Given the description of an element on the screen output the (x, y) to click on. 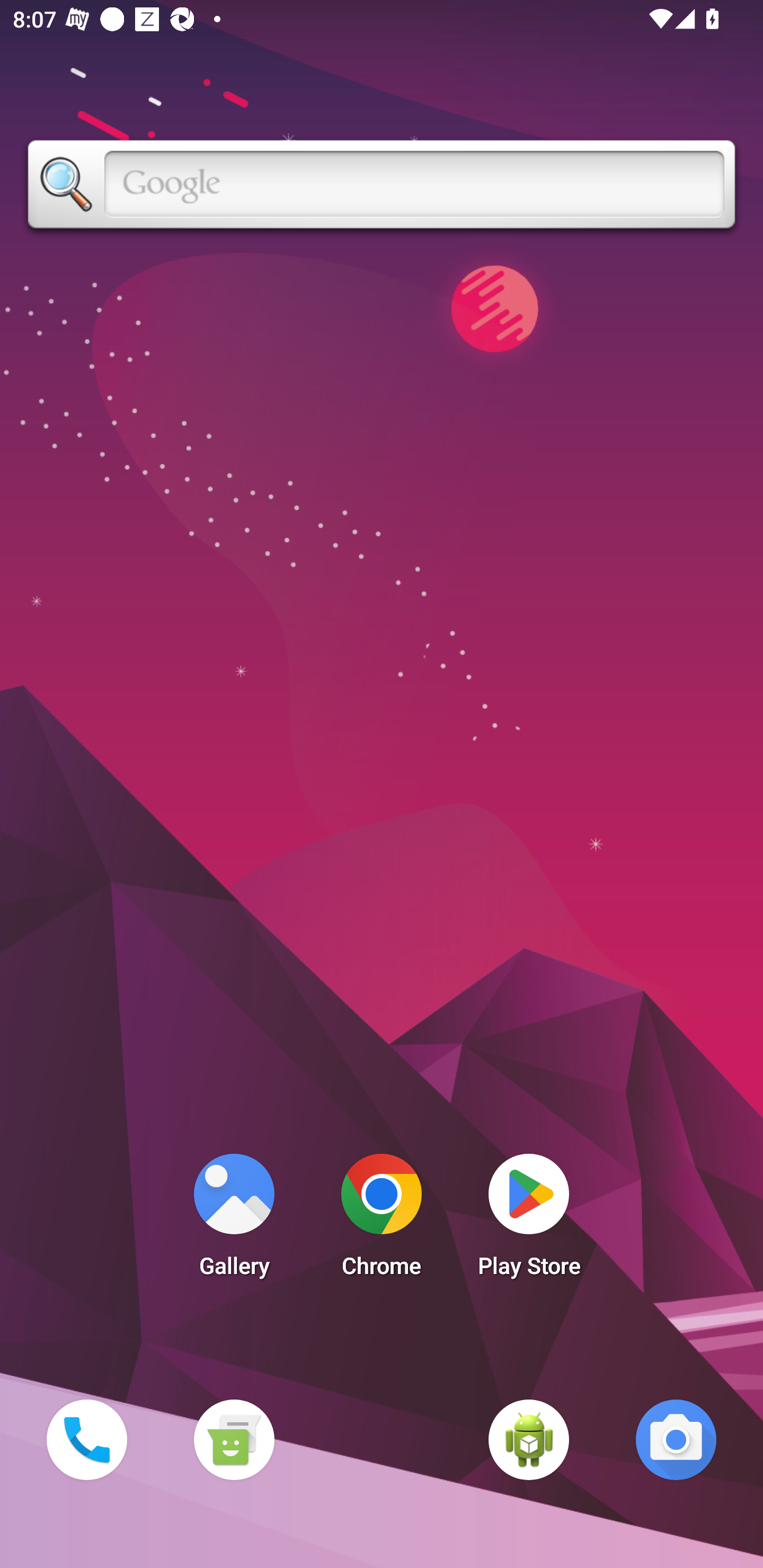
Gallery (233, 1220)
Chrome (381, 1220)
Play Store (528, 1220)
Phone (86, 1439)
Messaging (233, 1439)
WebView Browser Tester (528, 1439)
Camera (676, 1439)
